Given the description of an element on the screen output the (x, y) to click on. 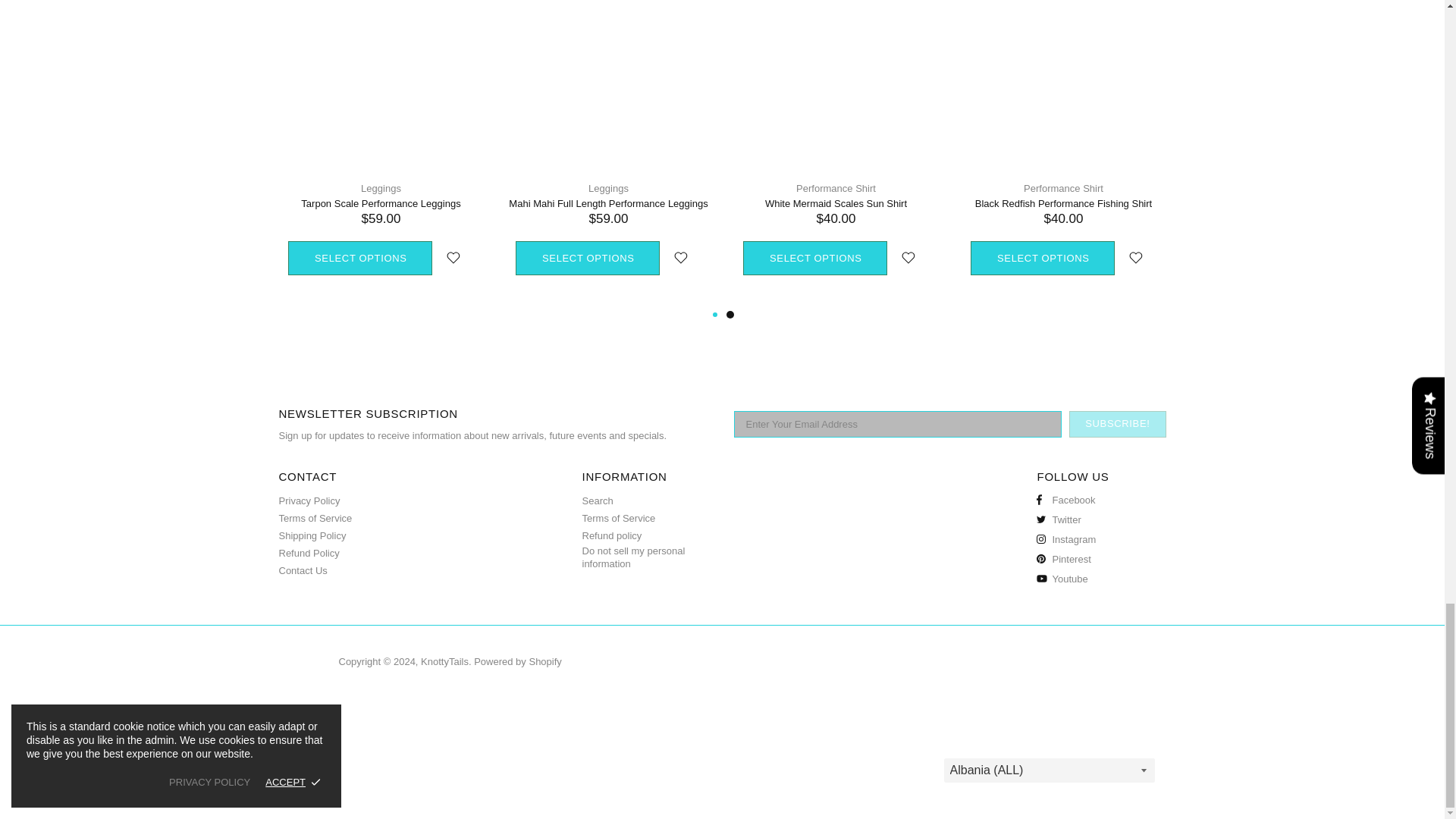
SUBSCRIBE! (1117, 424)
